Given the description of an element on the screen output the (x, y) to click on. 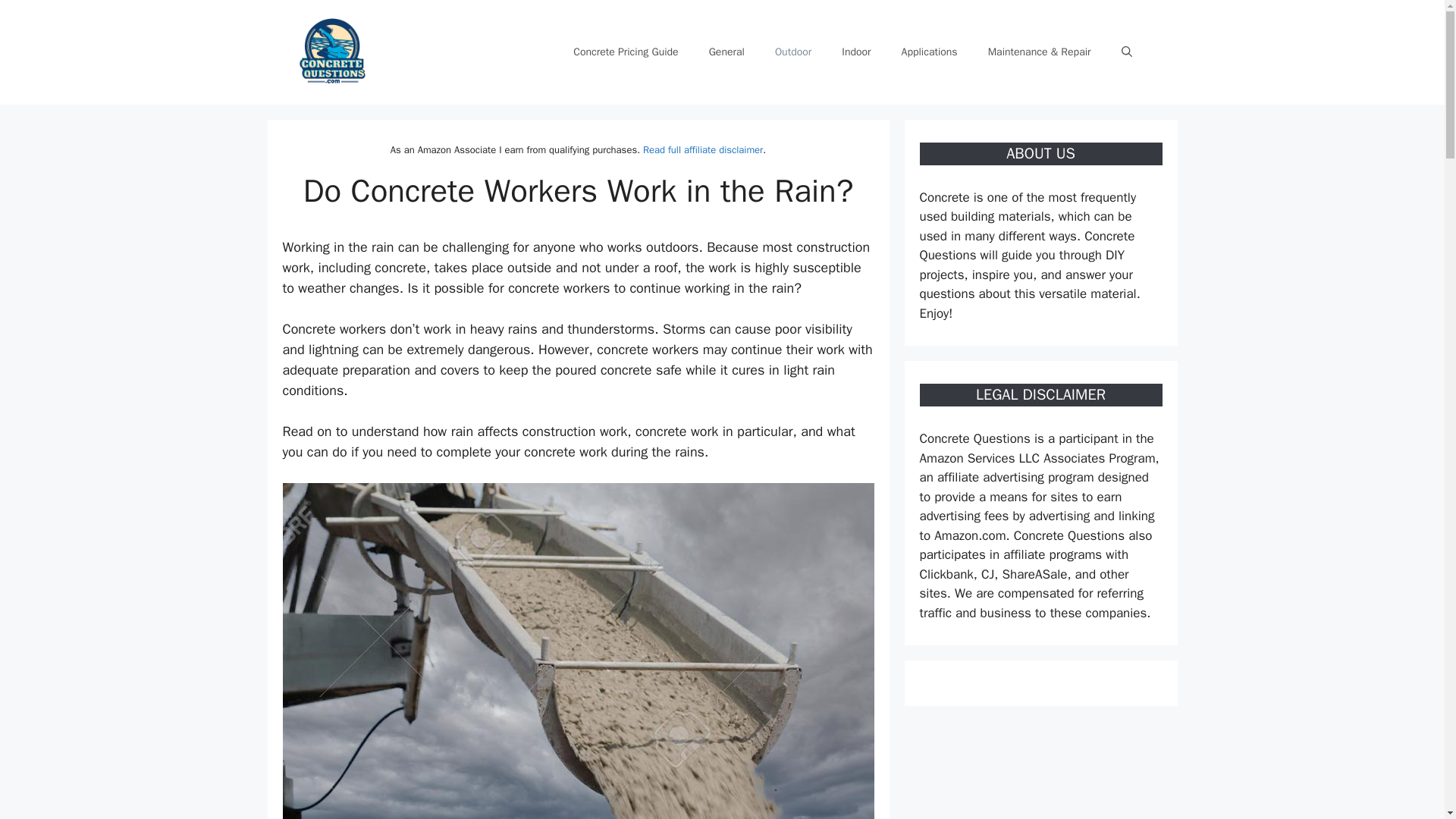
Indoor (856, 52)
Applications (929, 52)
Concrete Pricing Guide (625, 52)
Read full affiliate disclaimer (702, 149)
General (727, 52)
Outdoor (793, 52)
